Given the description of an element on the screen output the (x, y) to click on. 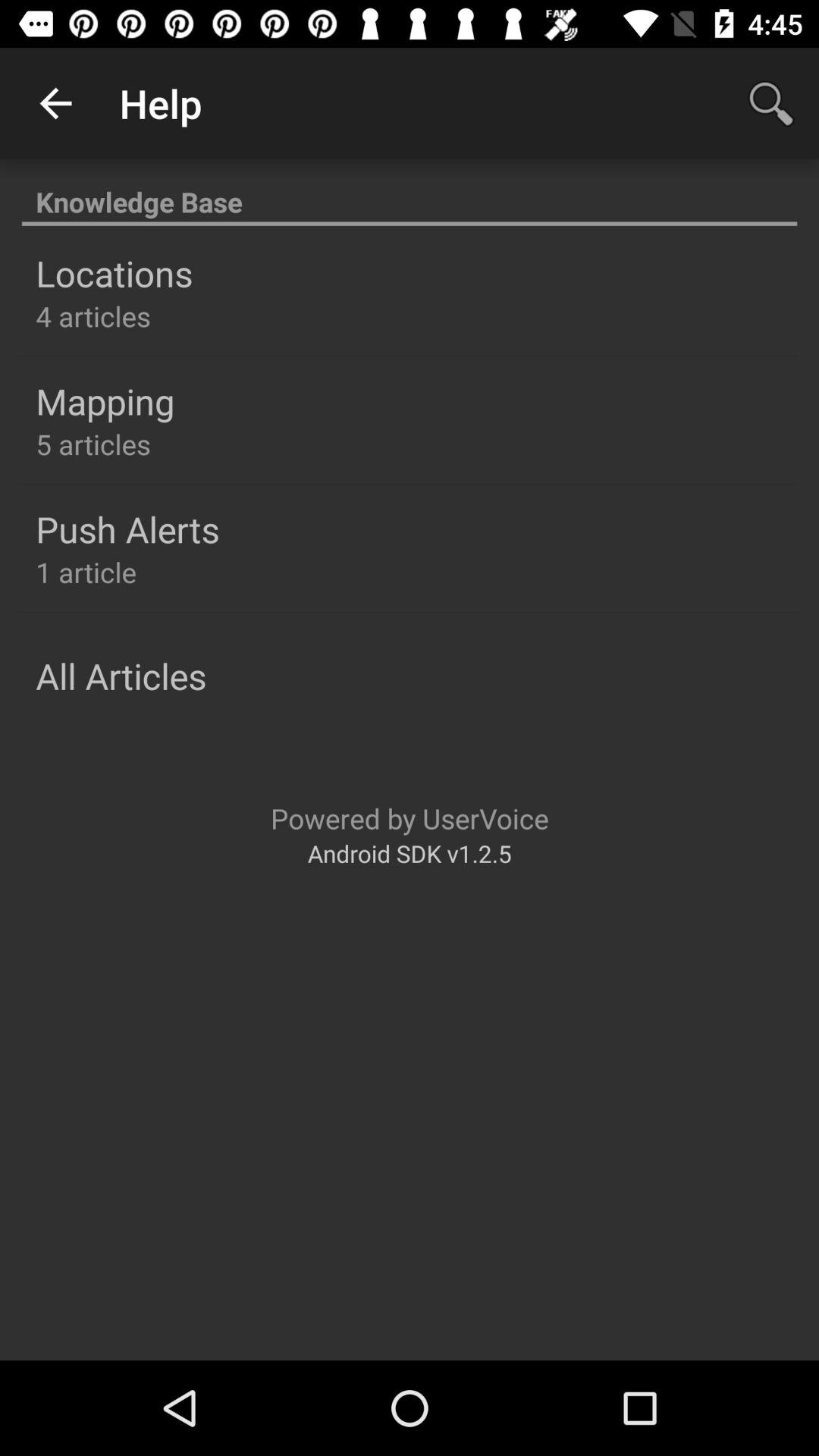
tap the item below the mapping icon (92, 443)
